Given the description of an element on the screen output the (x, y) to click on. 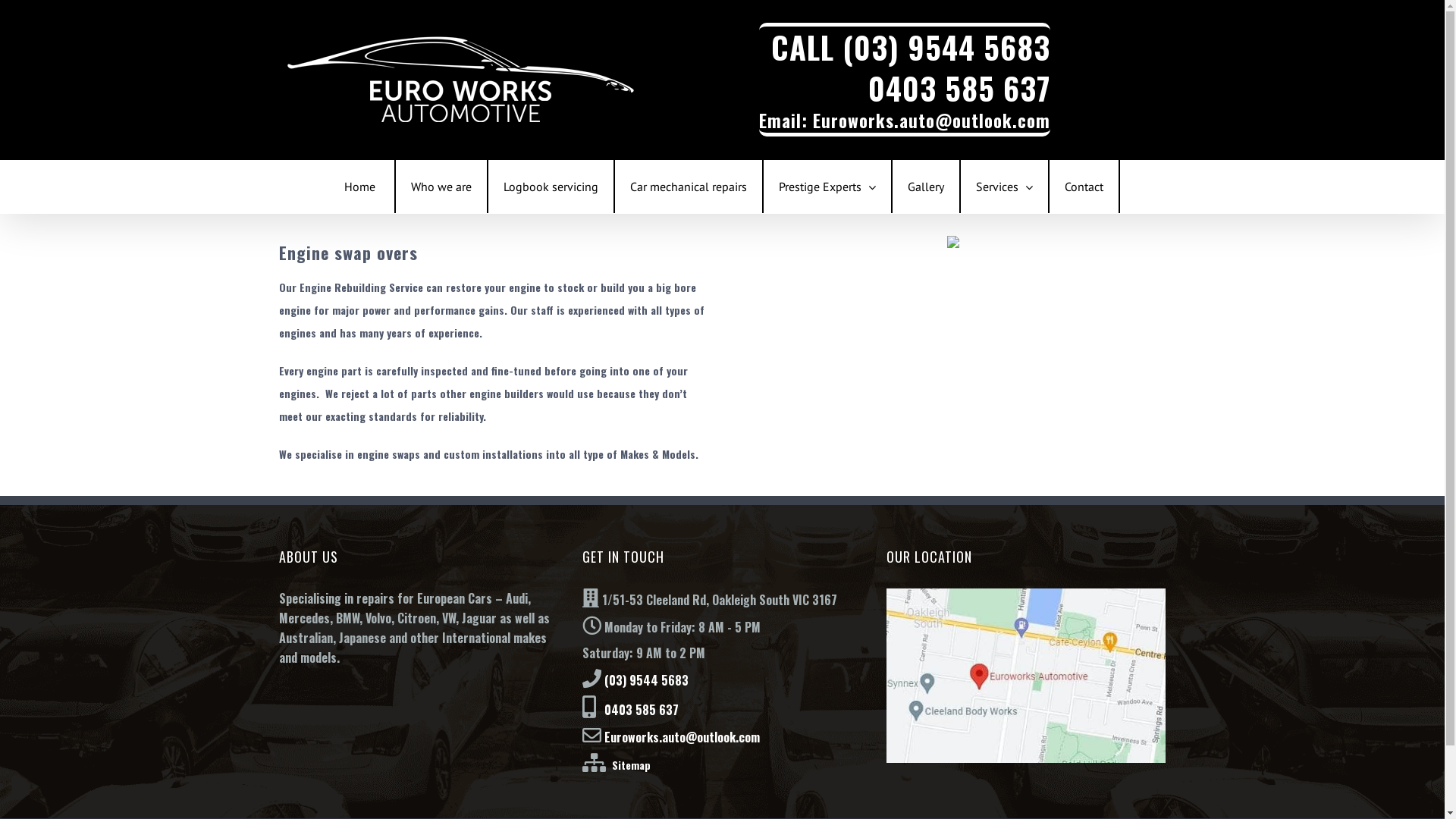
0403 585 637 Element type: text (639, 709)
Prestige Experts Element type: text (826, 186)
Euroworks.auto@outlook.com Element type: text (931, 120)
Who we are Element type: text (440, 186)
Gallery Element type: text (924, 186)
Home Element type: text (358, 186)
Euroworks.auto@outlook.com Element type: text (681, 737)
Car mechanical repairs Element type: text (687, 186)
(03) 9544 5683 Element type: text (945, 46)
Logbook servicing Element type: text (550, 186)
Services Element type: text (1003, 186)
(03) 9544 5683 Element type: text (646, 680)
  Sitemap Element type: text (627, 764)
0403 585 637 Element type: text (958, 87)
Contact Element type: text (1083, 186)
